Given the description of an element on the screen output the (x, y) to click on. 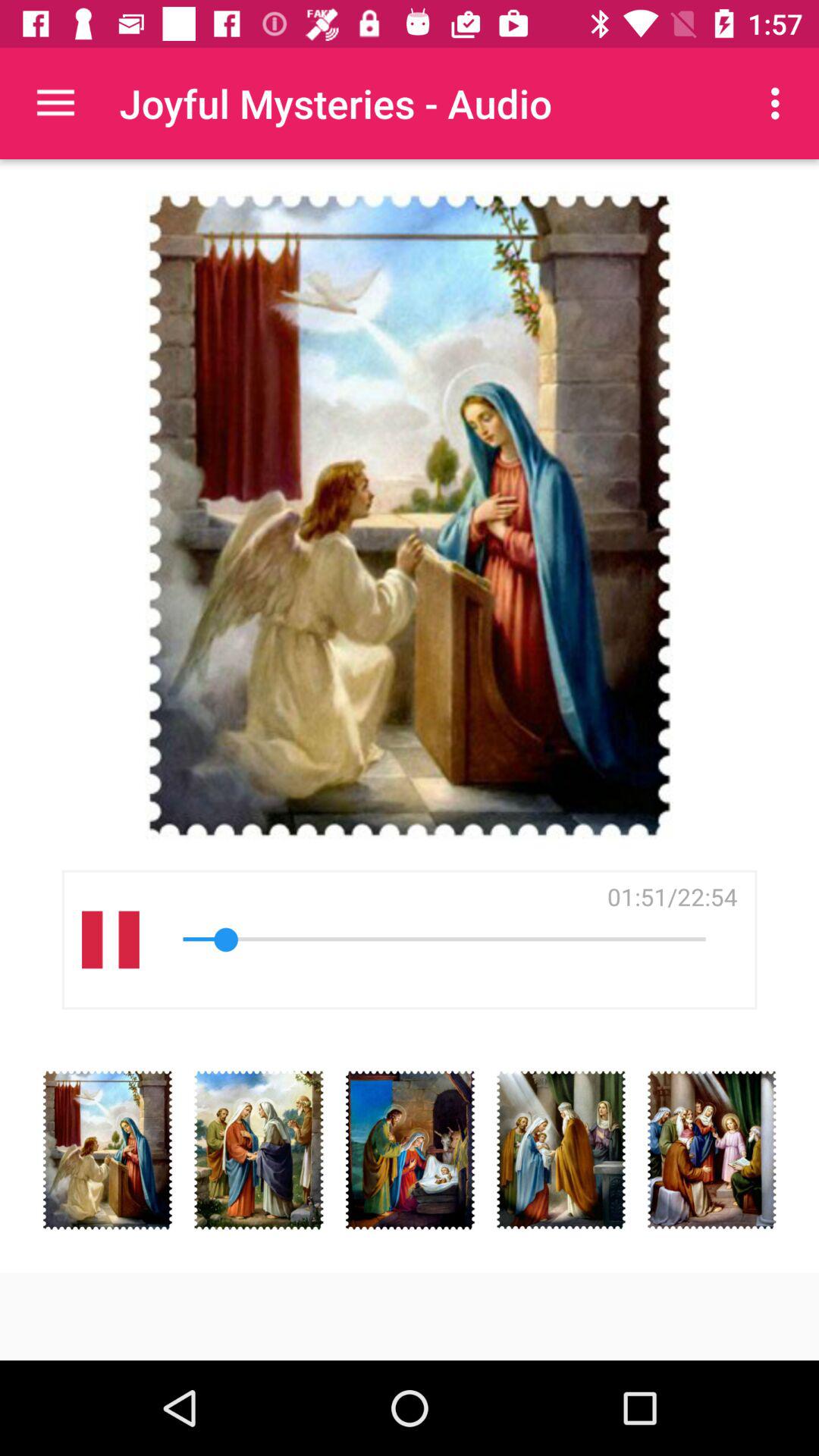
open the item on the left (110, 939)
